Given the description of an element on the screen output the (x, y) to click on. 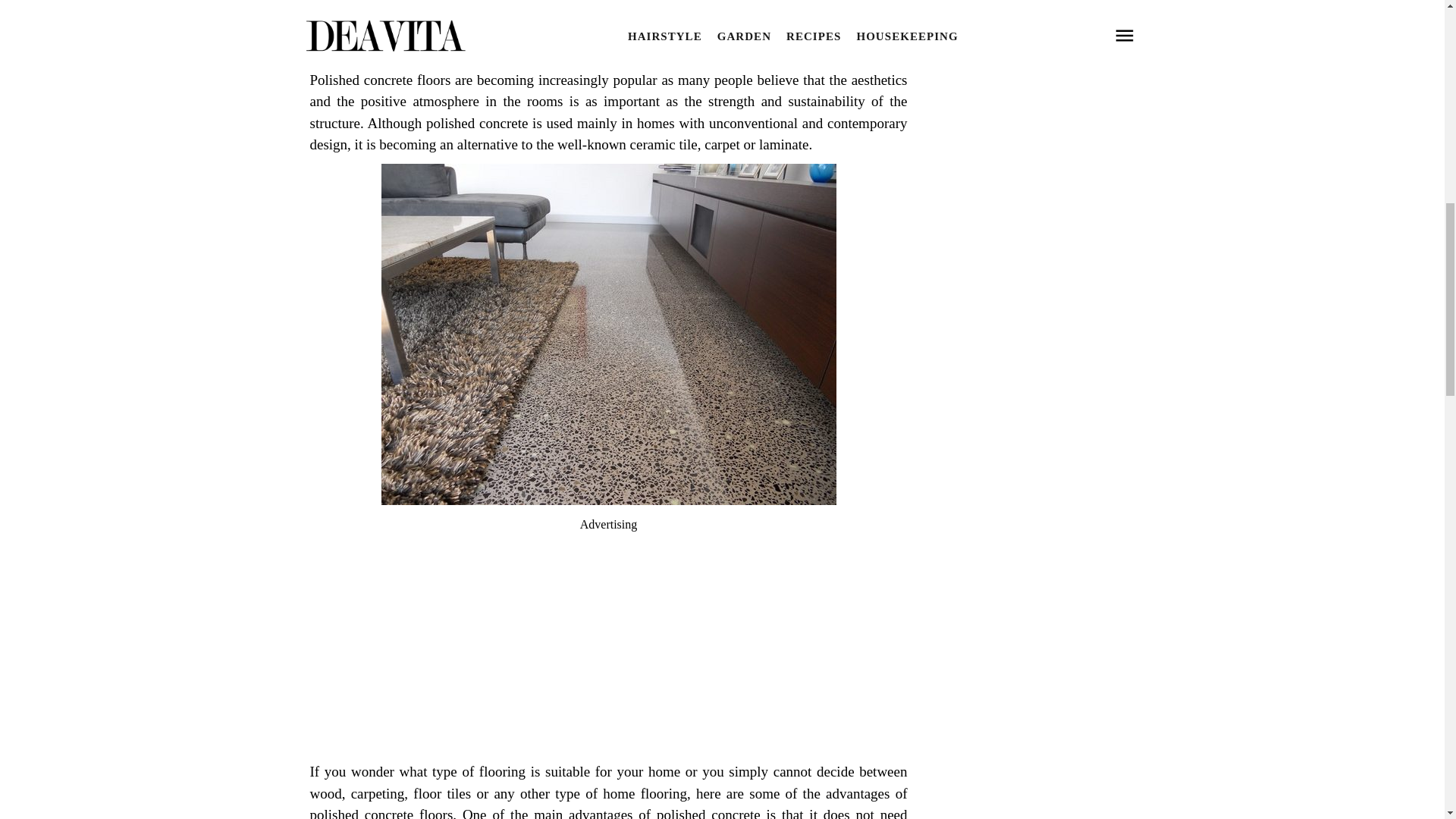
Why choose polished concrete floors home flooring  (607, 50)
